Given the description of an element on the screen output the (x, y) to click on. 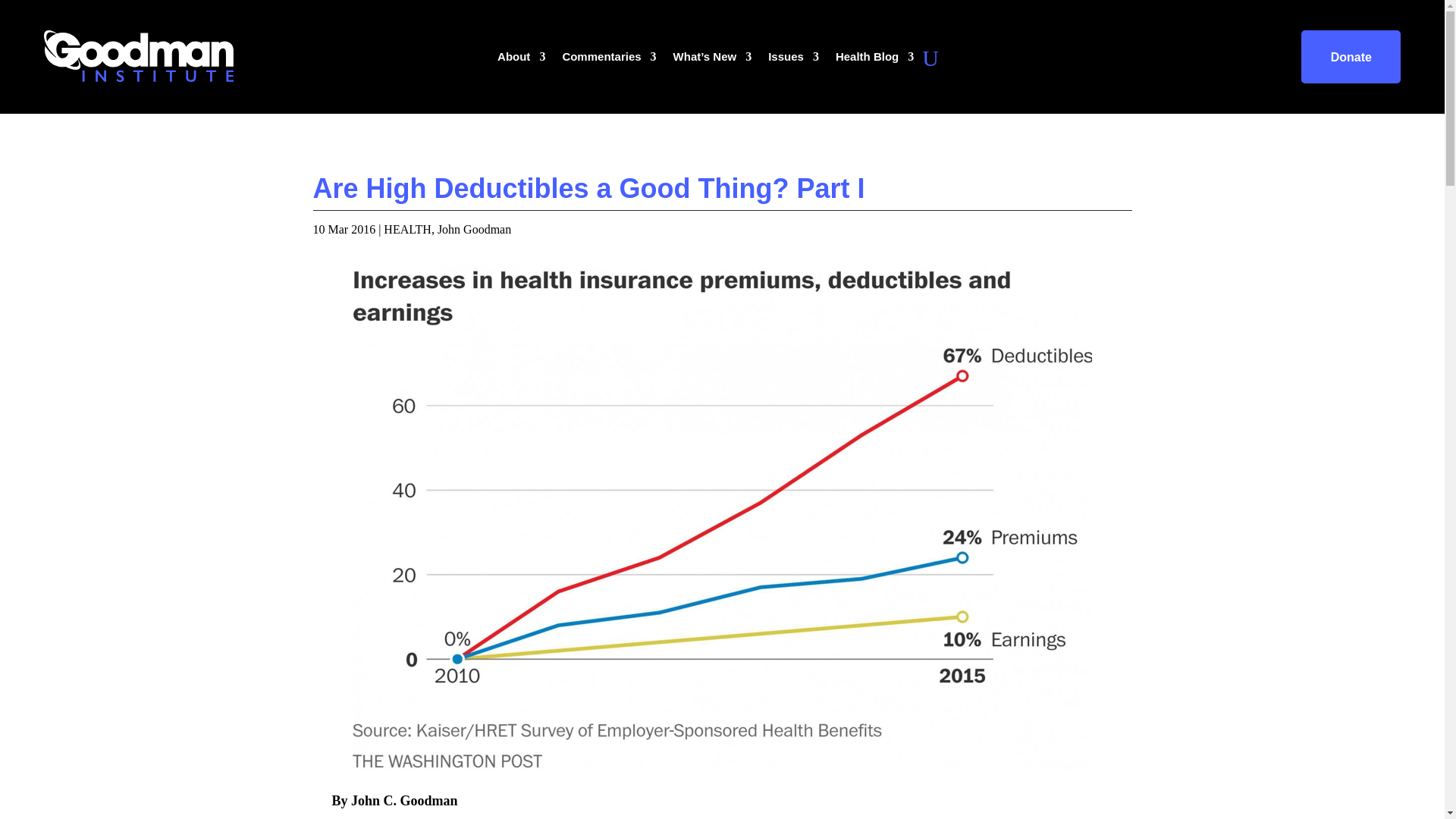
Commentaries (609, 61)
GoodmanInstitute-Logo (137, 55)
About (520, 61)
Issues (793, 61)
